Given the description of an element on the screen output the (x, y) to click on. 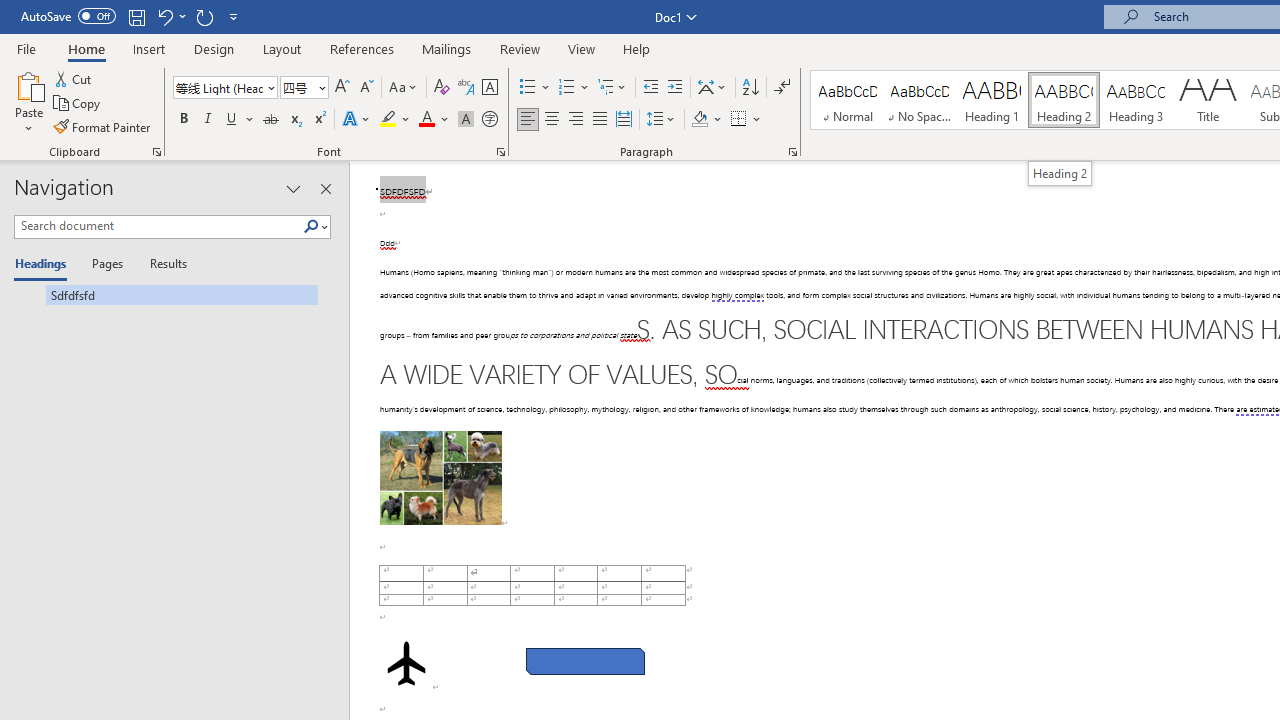
Shrink Font (365, 87)
Multilevel List (613, 87)
Line and Paragraph Spacing (661, 119)
Grow Font (342, 87)
Results (161, 264)
Center (552, 119)
Heading 2 (1059, 173)
